Given the description of an element on the screen output the (x, y) to click on. 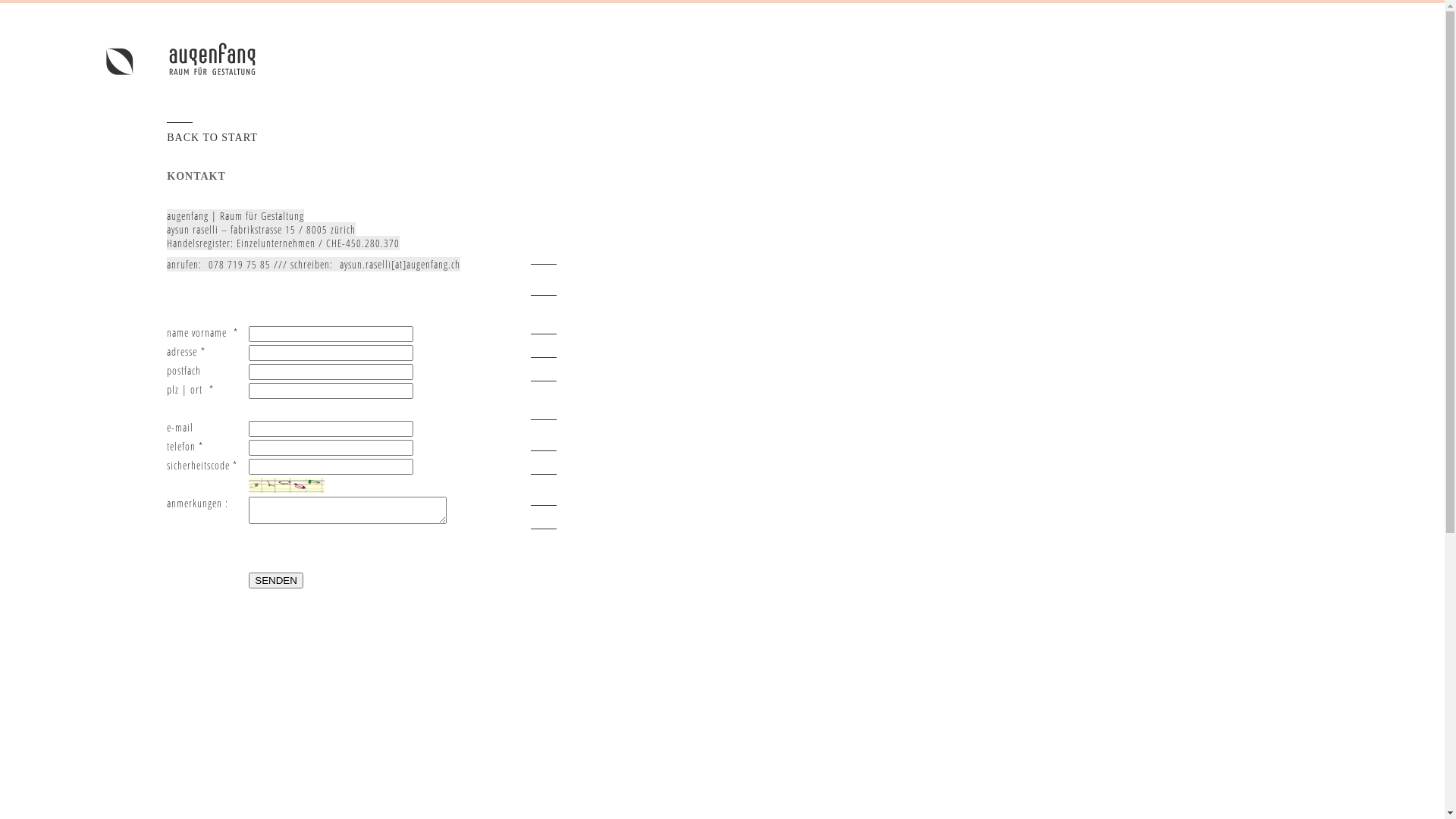
SENDEN Element type: text (275, 580)
BACK TO START Element type: text (211, 137)
KONTAKT Element type: text (195, 176)
